Given the description of an element on the screen output the (x, y) to click on. 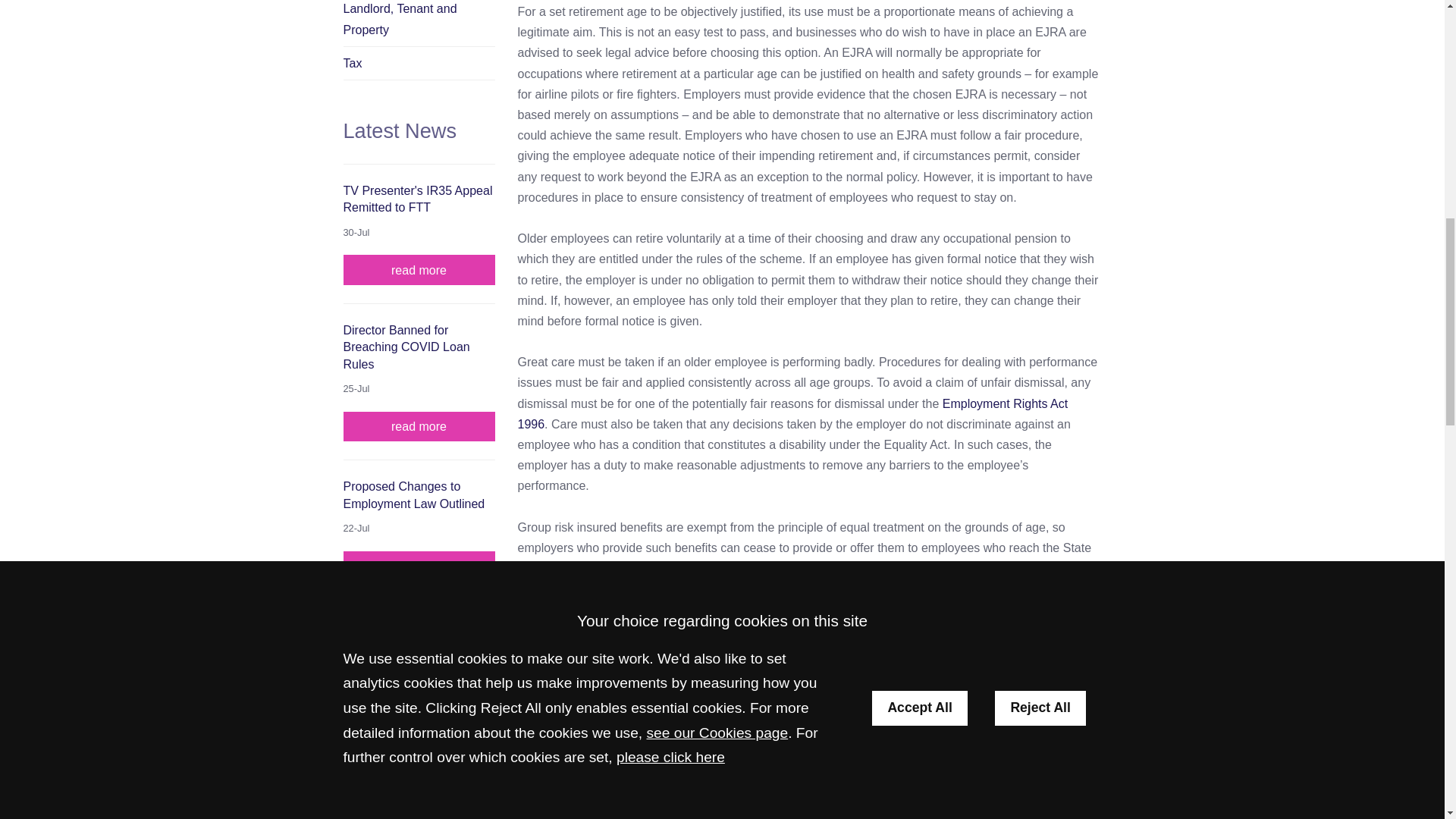
Employment Rights Act 1996 (791, 413)
Landlord, Tenant and Property (418, 22)
Tax (418, 63)
